Given the description of an element on the screen output the (x, y) to click on. 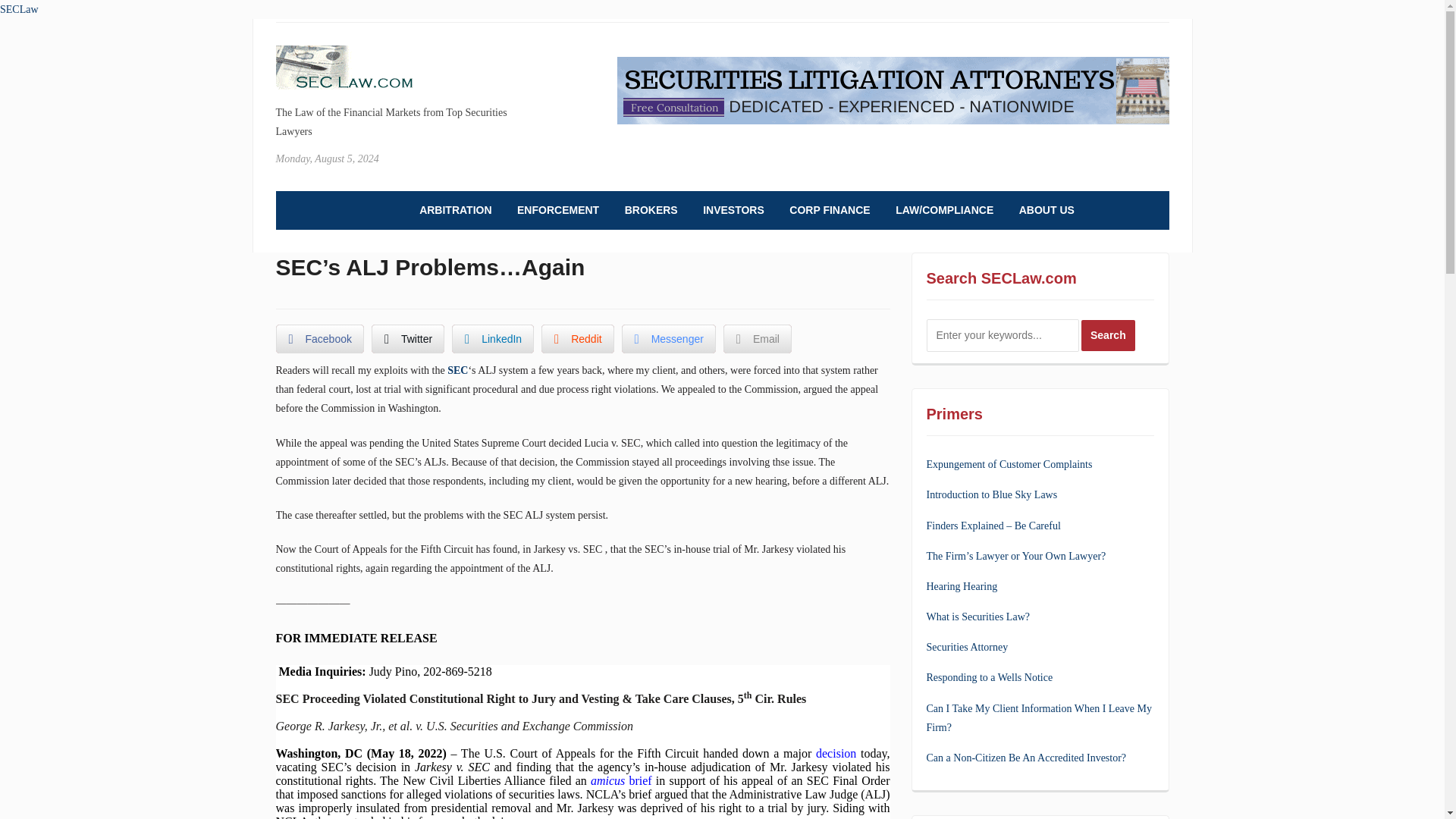
SECLaw (19, 9)
Search (1108, 335)
ARBITRATION (455, 210)
ENFORCEMENT (557, 210)
Search (1108, 335)
INVESTORS (733, 210)
BROKERS (651, 210)
